Given the description of an element on the screen output the (x, y) to click on. 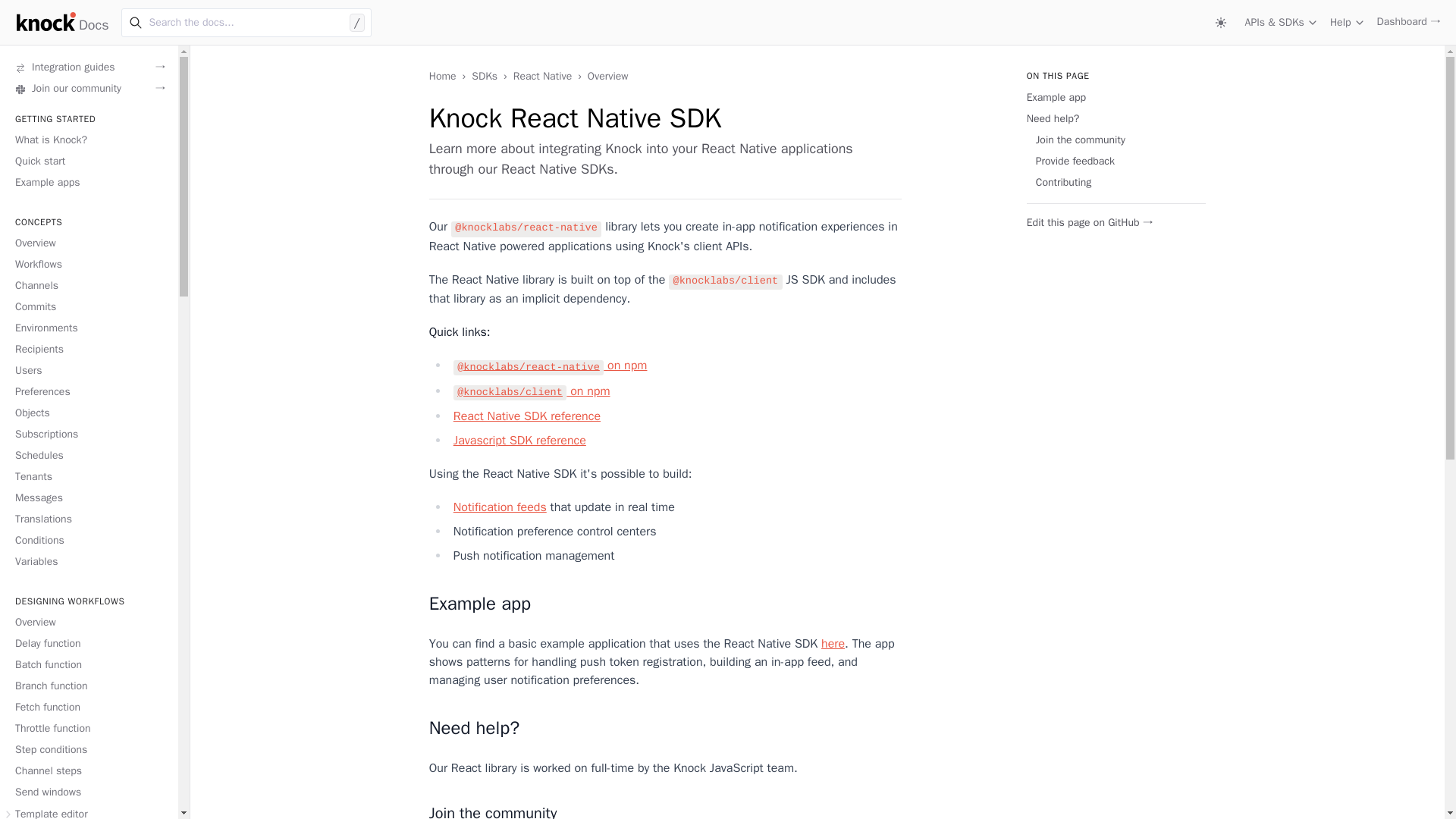
Schedules (39, 455)
Objects (31, 413)
Branch function (50, 686)
Overview (35, 243)
Users (28, 370)
Variables (36, 562)
Subscriptions (46, 434)
Commits (35, 307)
Messages (38, 498)
Delay function (47, 644)
Overview (35, 622)
What is Knock? (50, 140)
Channel steps (47, 771)
Channels (36, 286)
Fetch function (47, 707)
